Given the description of an element on the screen output the (x, y) to click on. 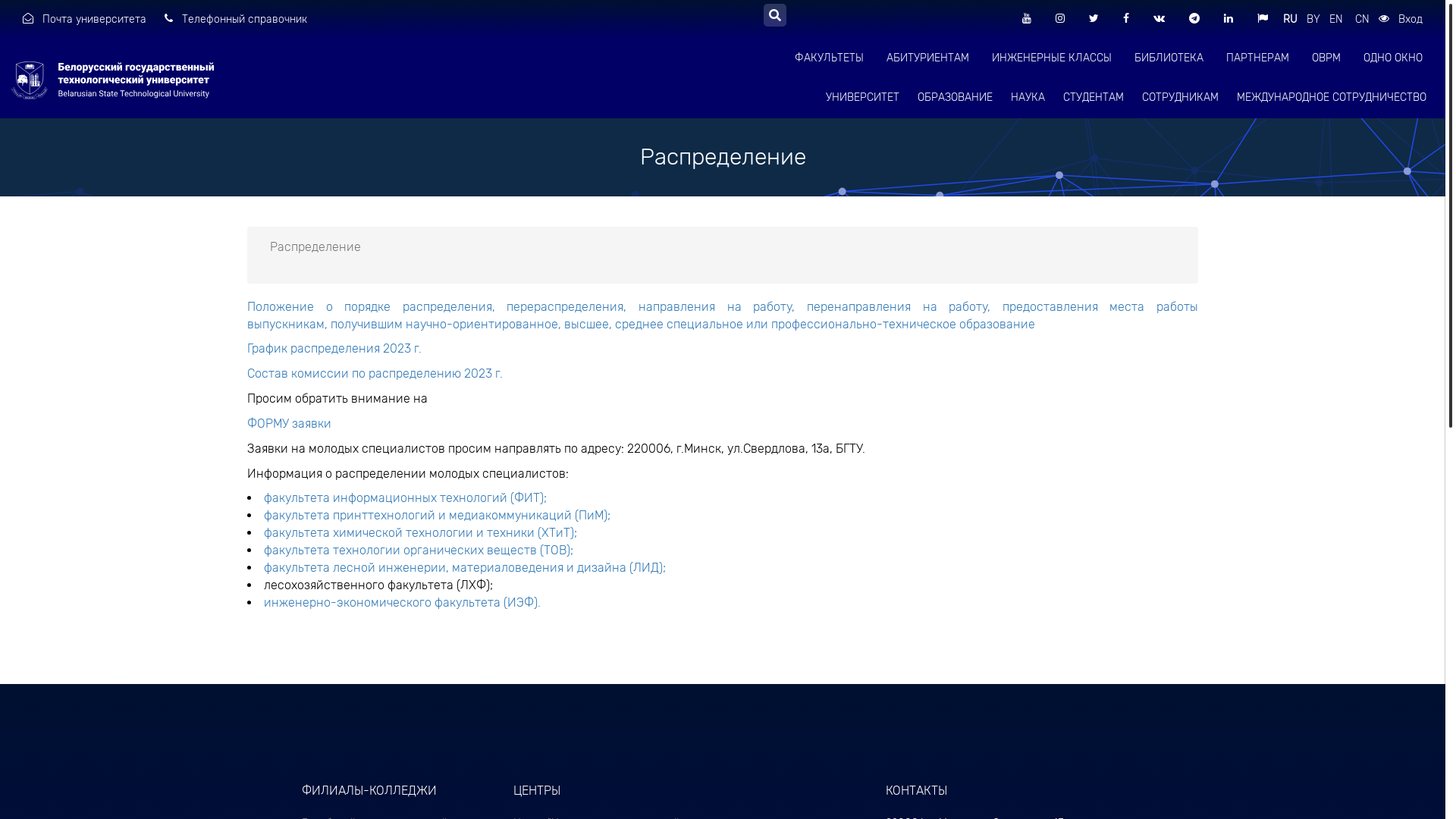
CN   Element type: text (1365, 18)
BY   Element type: text (1316, 18)
EN    Element type: text (1340, 18)
RU   Element type: text (1293, 18)
